Given the description of an element on the screen output the (x, y) to click on. 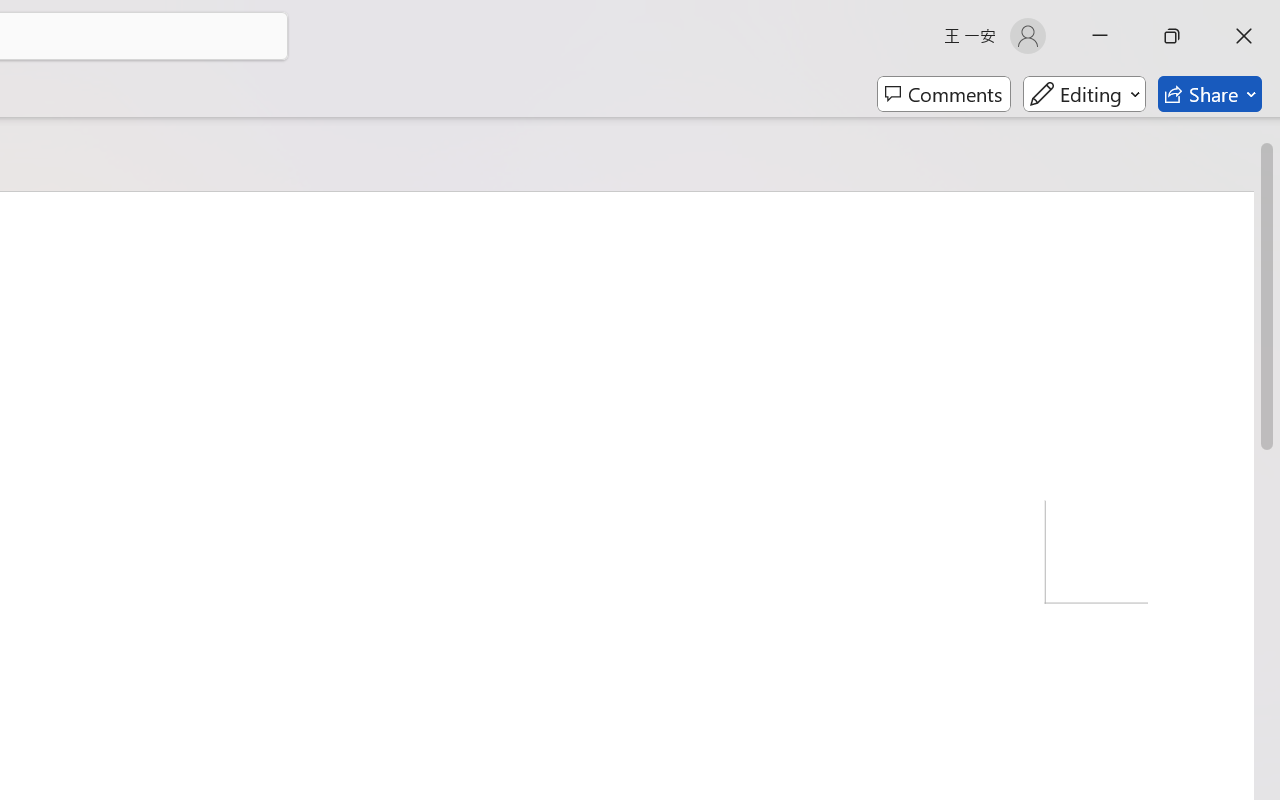
Share (1210, 94)
Close (1244, 36)
Mode (1083, 94)
Minimize (1099, 36)
Comments (943, 94)
Restore Down (1172, 36)
